Given the description of an element on the screen output the (x, y) to click on. 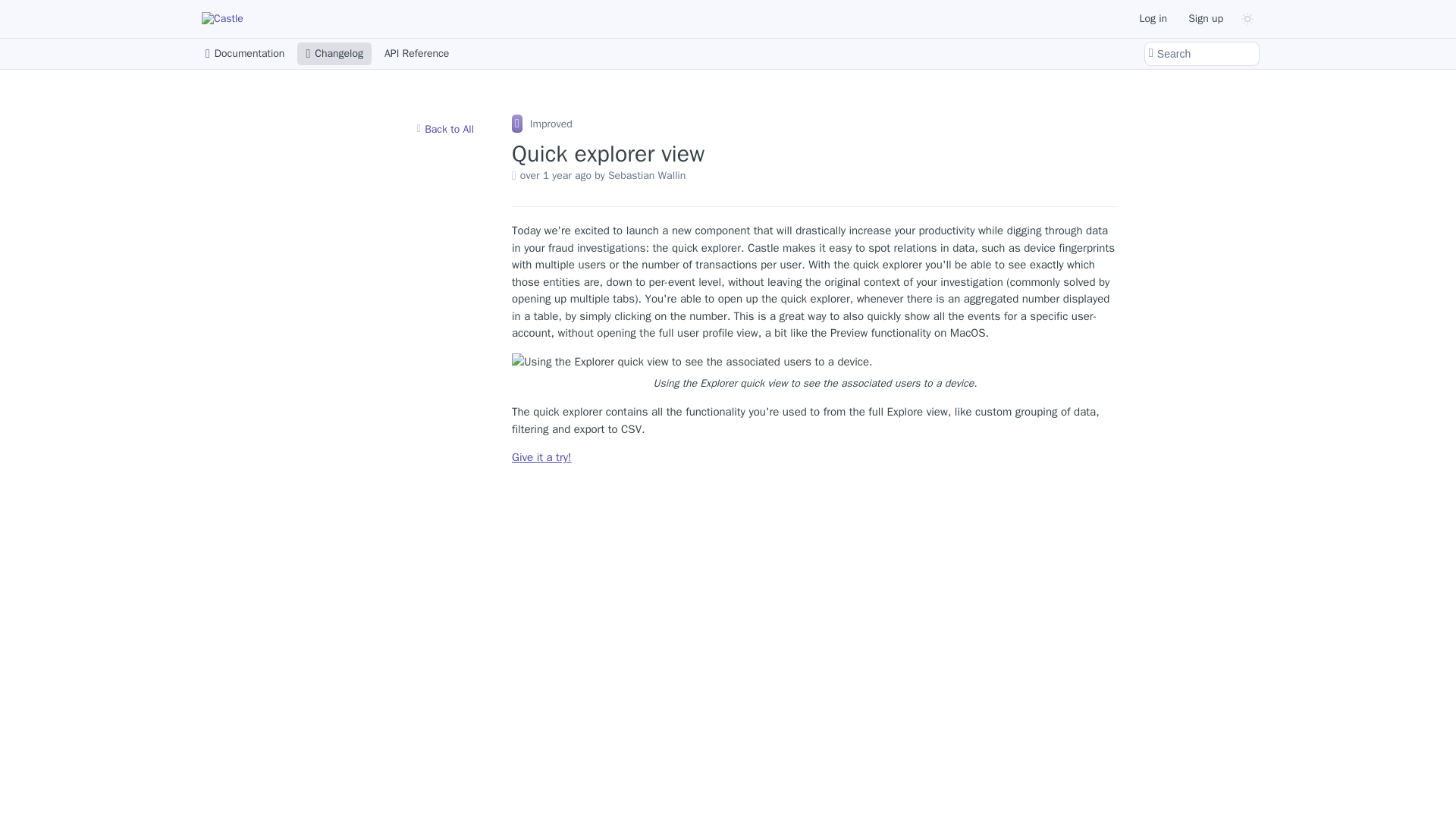
Give it a try! (542, 457)
API Reference (416, 53)
Log in (1153, 18)
Back to All (445, 128)
Changelog (334, 53)
Documentation (244, 53)
Sign up (1205, 18)
Search (1201, 53)
